Given the description of an element on the screen output the (x, y) to click on. 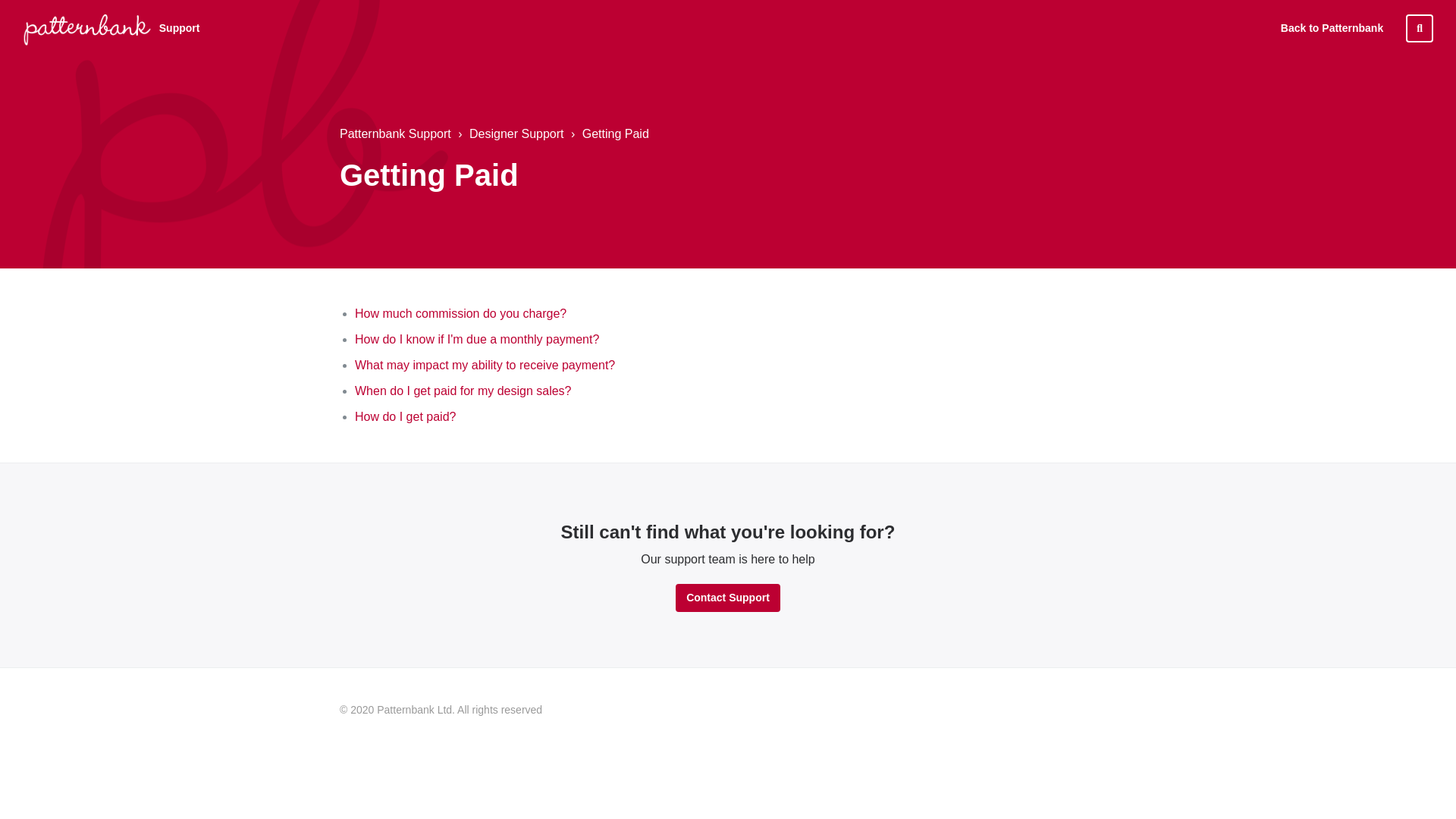
Patternbank Support (395, 134)
Designer Support (516, 133)
How do I know if I'm due a monthly payment? (476, 338)
What may impact my ability to receive payment? (484, 364)
How much commission do you charge? (460, 313)
Home (87, 28)
Back to Patternbank (1332, 28)
Getting Paid (615, 133)
How do I get paid? (405, 416)
Patternbank Support (395, 133)
Designer Support (508, 134)
When do I get paid for my design sales? (463, 390)
Contact Support (727, 597)
Getting Paid (608, 134)
